Given the description of an element on the screen output the (x, y) to click on. 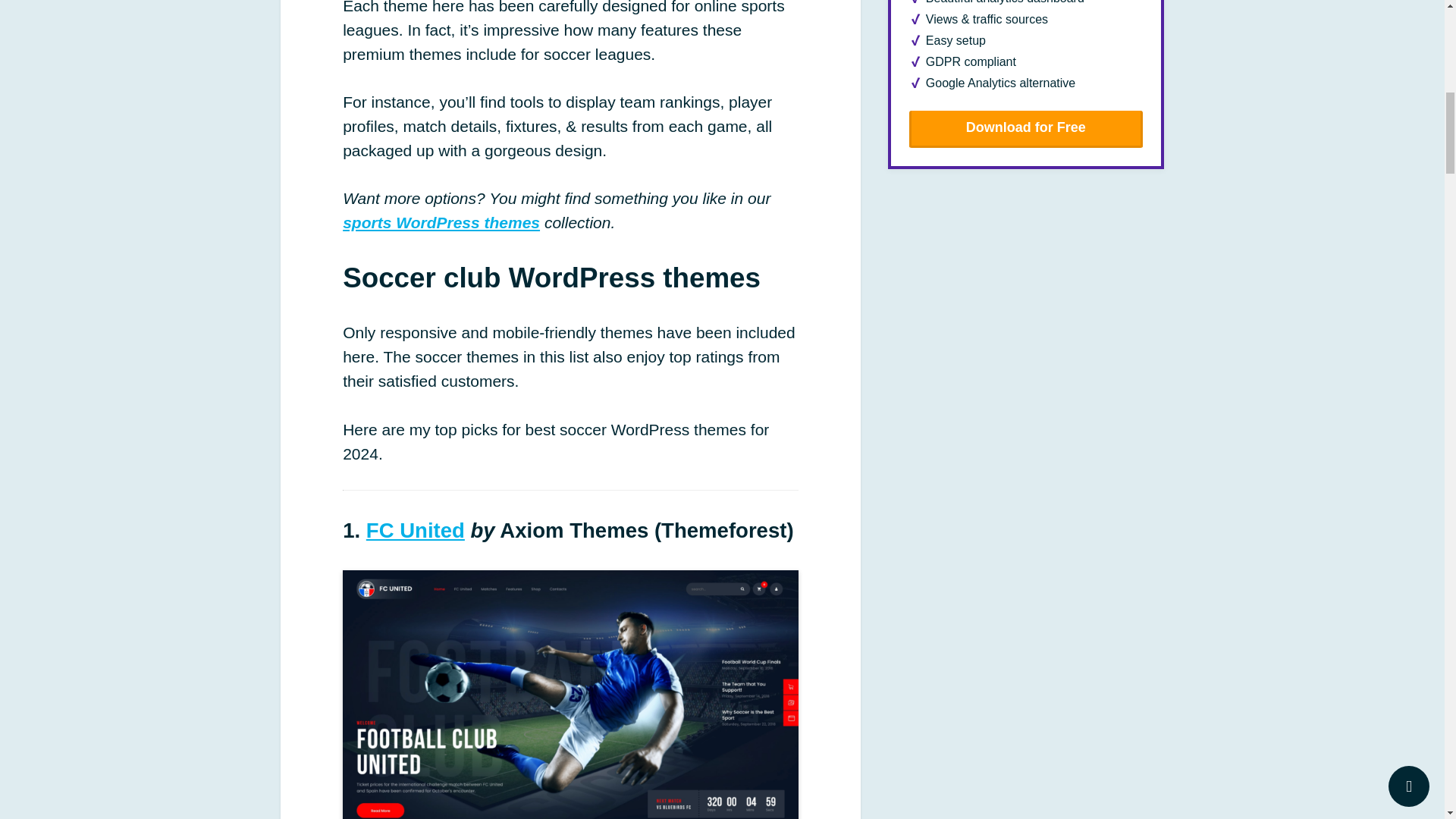
sports WordPress themes (441, 221)
FC United (415, 530)
